Given the description of an element on the screen output the (x, y) to click on. 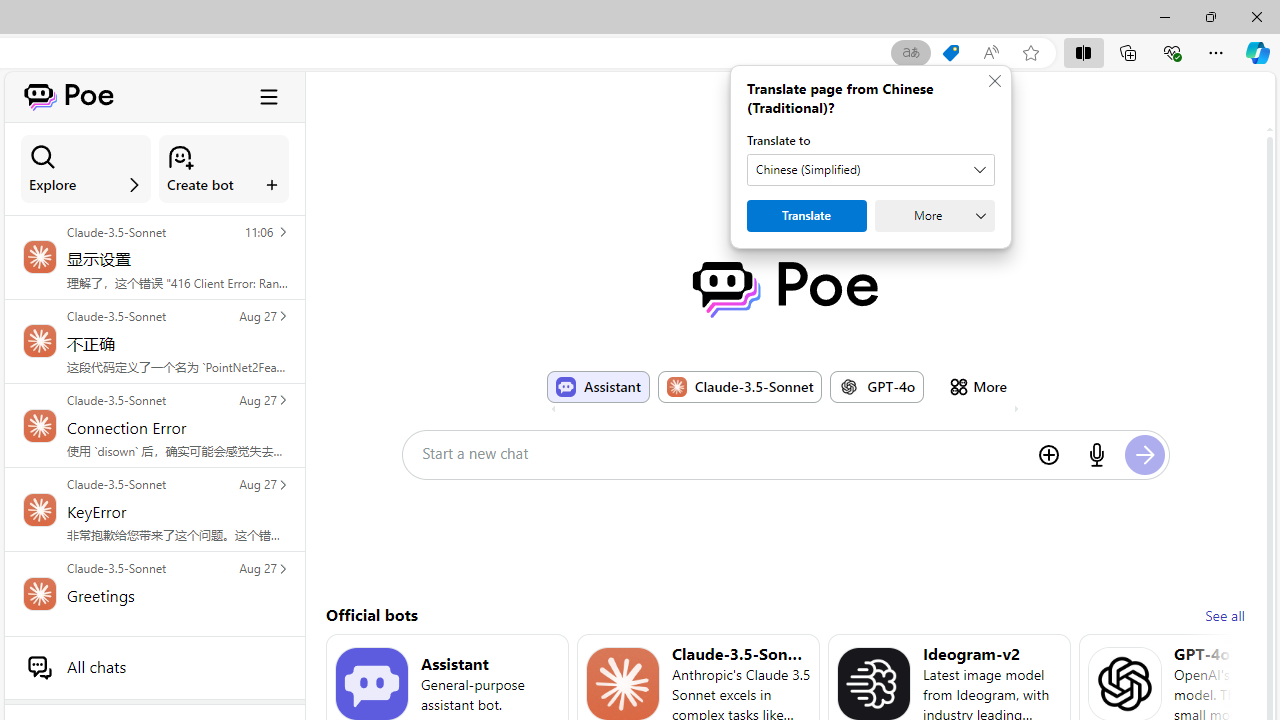
Bot image for Assistant Assistant (598, 386)
Show translate options (910, 53)
Bot image for Ideogram-v2 (874, 683)
Start a new chat (721, 453)
See all (1224, 615)
Create bot (223, 169)
Bot image for GPT-4o GPT-4o (877, 386)
